Given the description of an element on the screen output the (x, y) to click on. 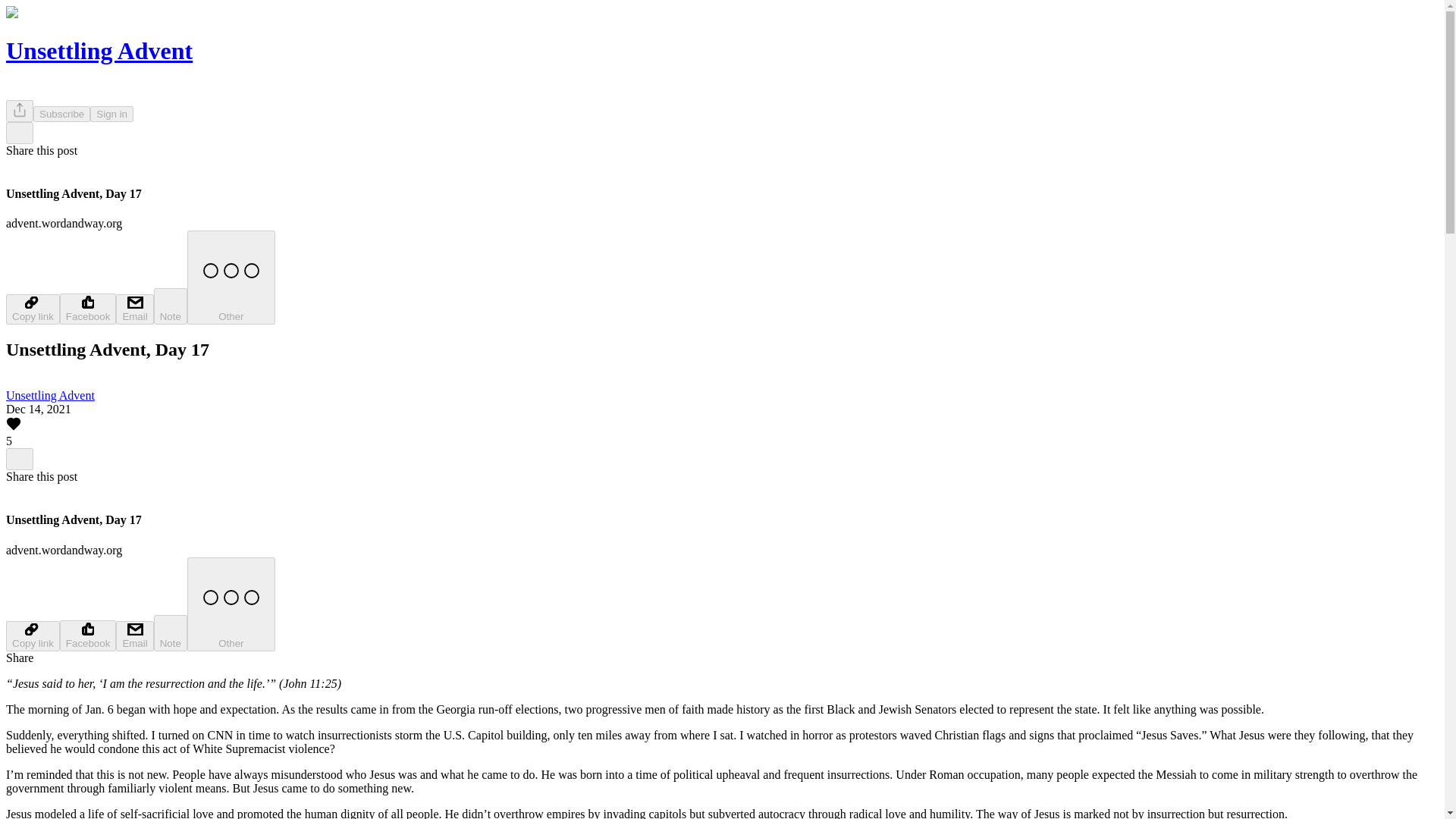
Subscribe (61, 114)
Facebook (87, 635)
Note (170, 633)
Note (170, 306)
Unsettling Advent (49, 395)
Facebook (87, 308)
Email (134, 635)
Other (231, 277)
Copy link (32, 309)
Sign in (111, 114)
Unsettling Advent (98, 50)
Copy link (32, 635)
Other (231, 604)
Email (134, 309)
